Given the description of an element on the screen output the (x, y) to click on. 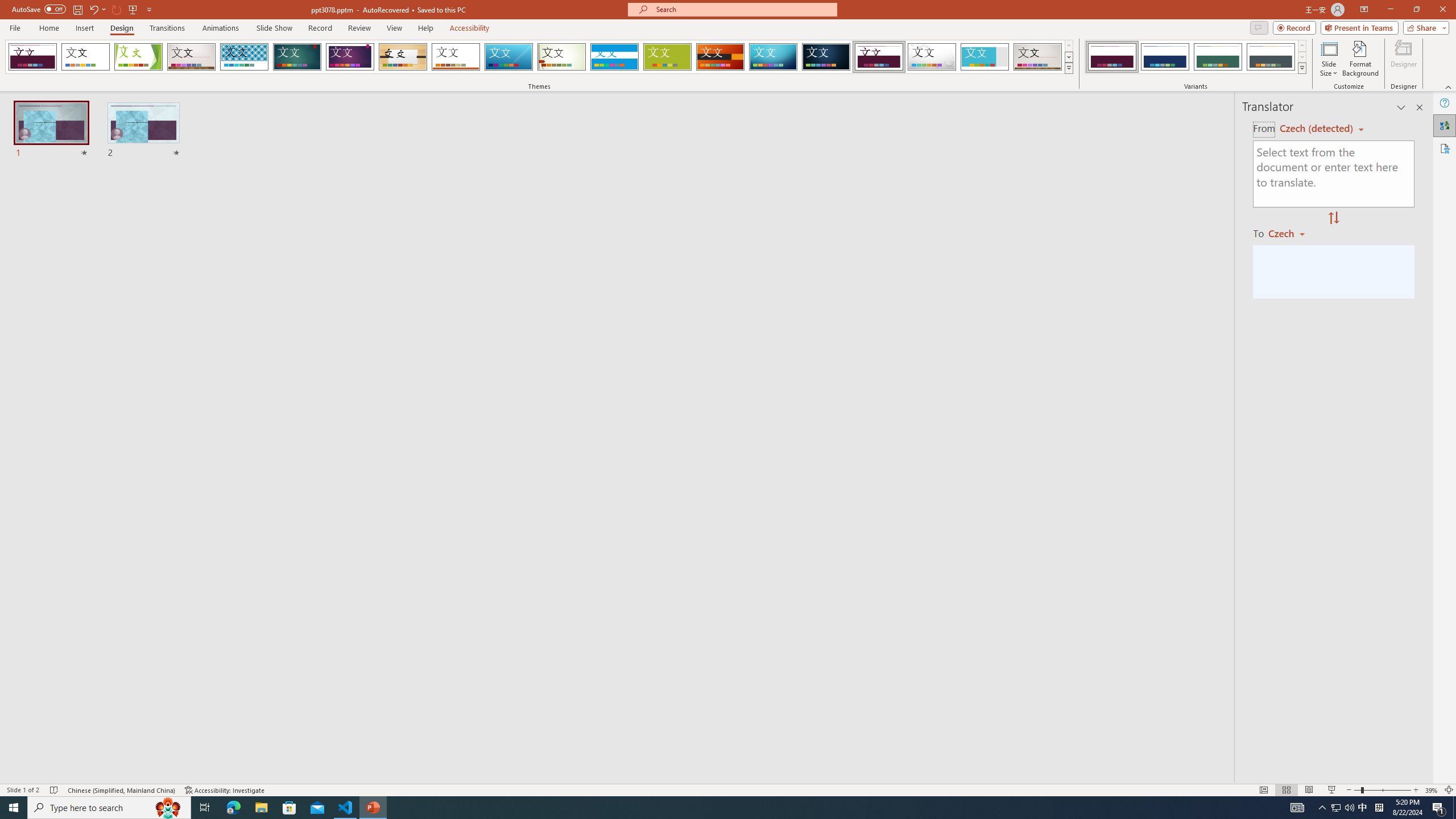
Zoom 39% (1431, 790)
Themes (1068, 67)
Wisp (561, 56)
Berlin (720, 56)
Circuit (772, 56)
Variants (1301, 67)
